Given the description of an element on the screen output the (x, y) to click on. 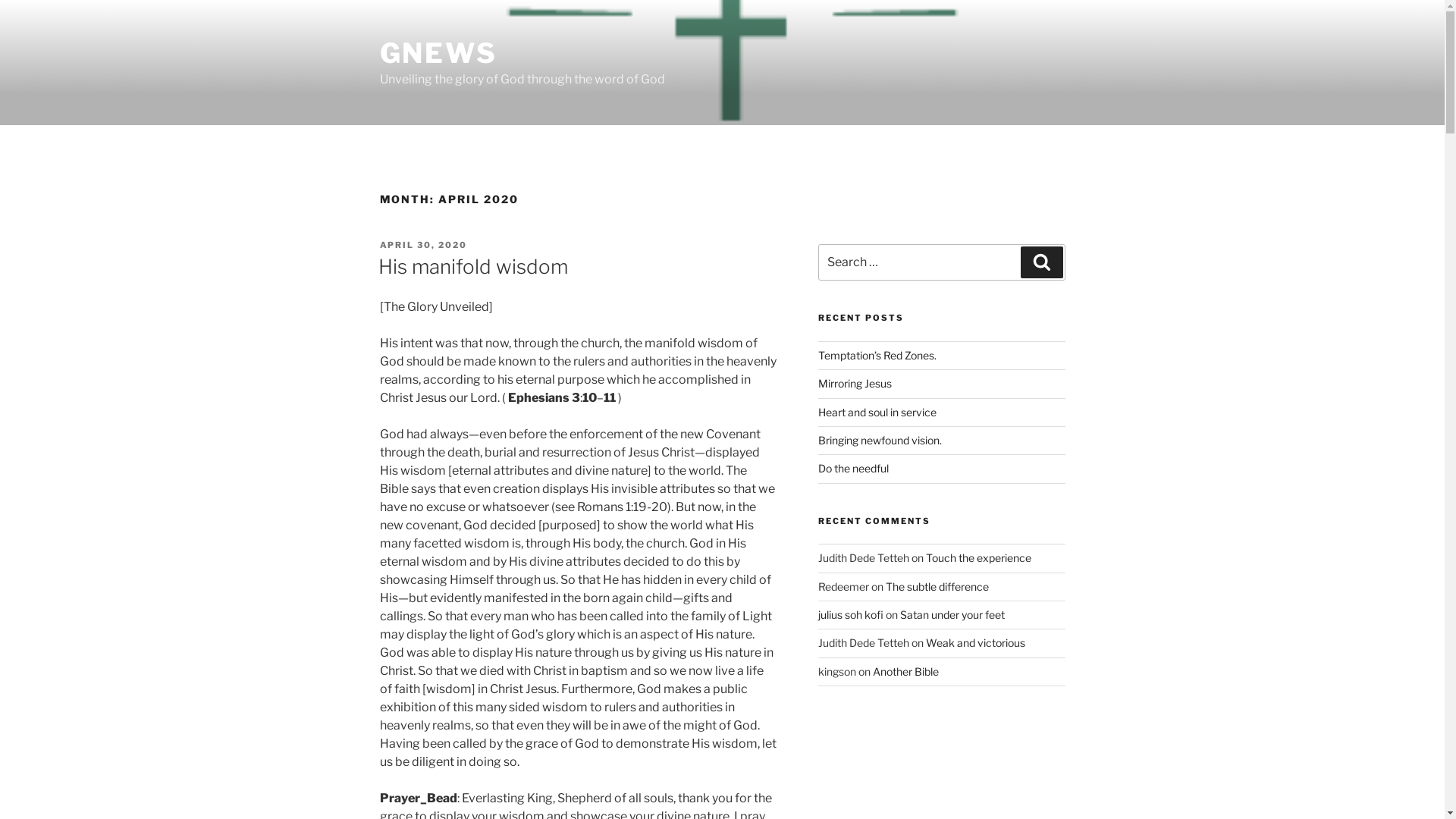
julius soh kofi Element type: text (850, 614)
Heart and soul in service Element type: text (877, 411)
His manifold wisdom Element type: text (472, 266)
Satan under your feet Element type: text (952, 614)
GNEWS Element type: text (437, 52)
Do the needful Element type: text (853, 467)
Search Element type: text (1041, 262)
Touch the experience Element type: text (978, 557)
The subtle difference Element type: text (936, 586)
Another Bible Element type: text (905, 671)
Bringing newfound vision. Element type: text (879, 439)
Weak and victorious Element type: text (975, 642)
Mirroring Jesus Element type: text (854, 382)
APRIL 30, 2020 Element type: text (423, 244)
